Given the description of an element on the screen output the (x, y) to click on. 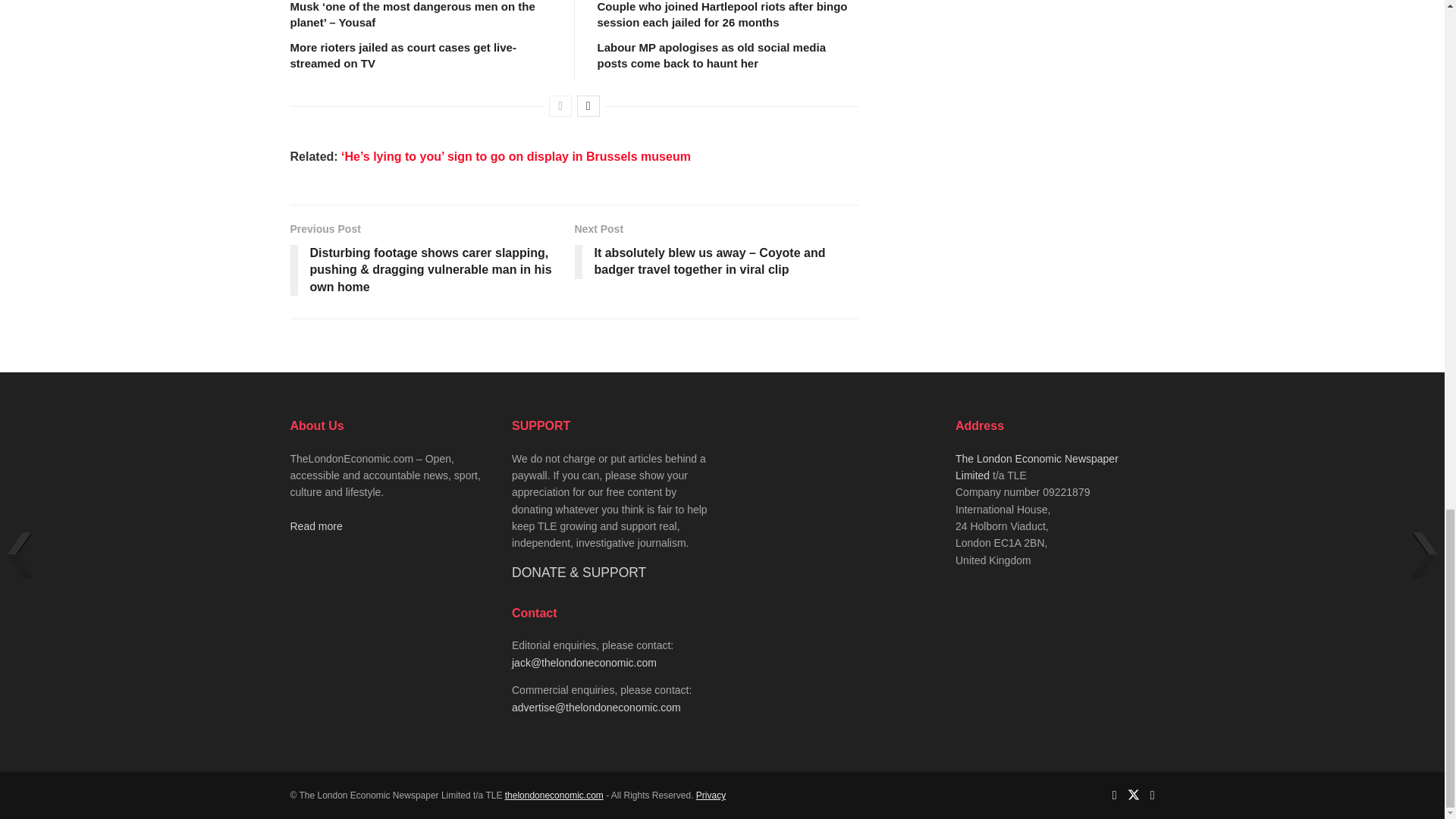
Previous (560, 106)
The London Economic (554, 795)
Privacy (710, 795)
Next (587, 106)
